Given the description of an element on the screen output the (x, y) to click on. 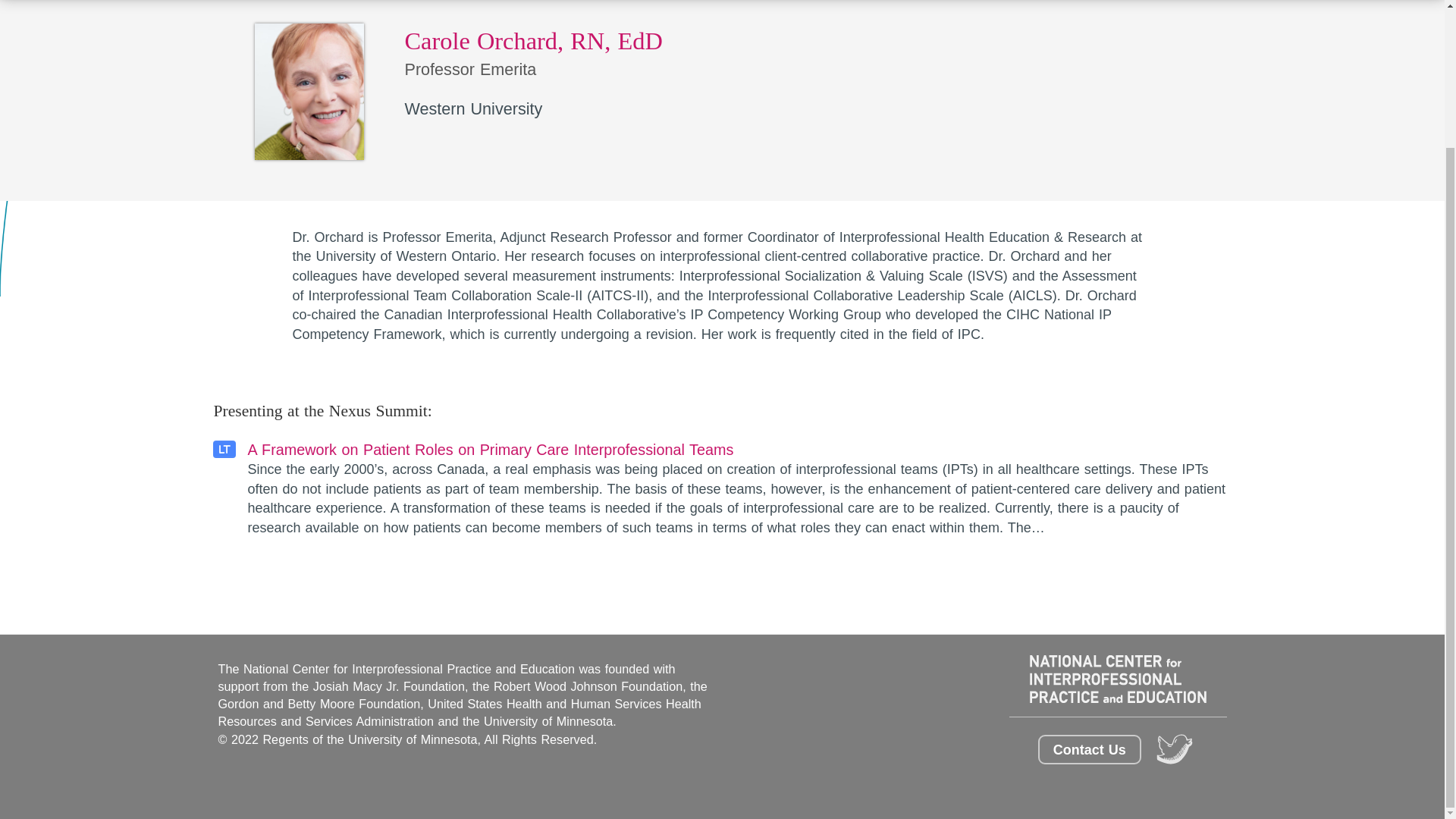
Lightning Talk (738, 488)
Twitter (1174, 749)
